Given the description of an element on the screen output the (x, y) to click on. 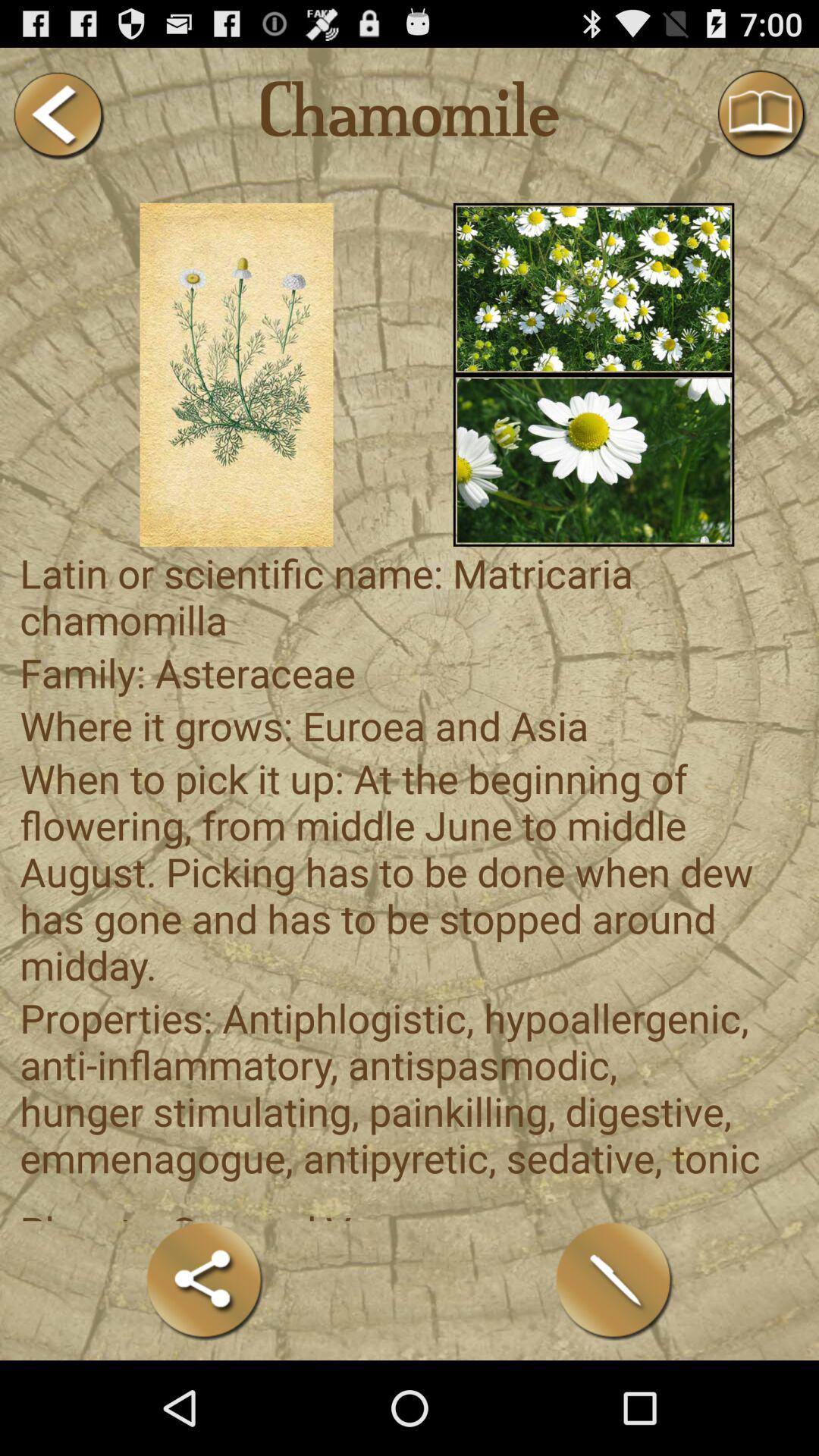
select the icon to the left of the chamomile (57, 115)
